Given the description of an element on the screen output the (x, y) to click on. 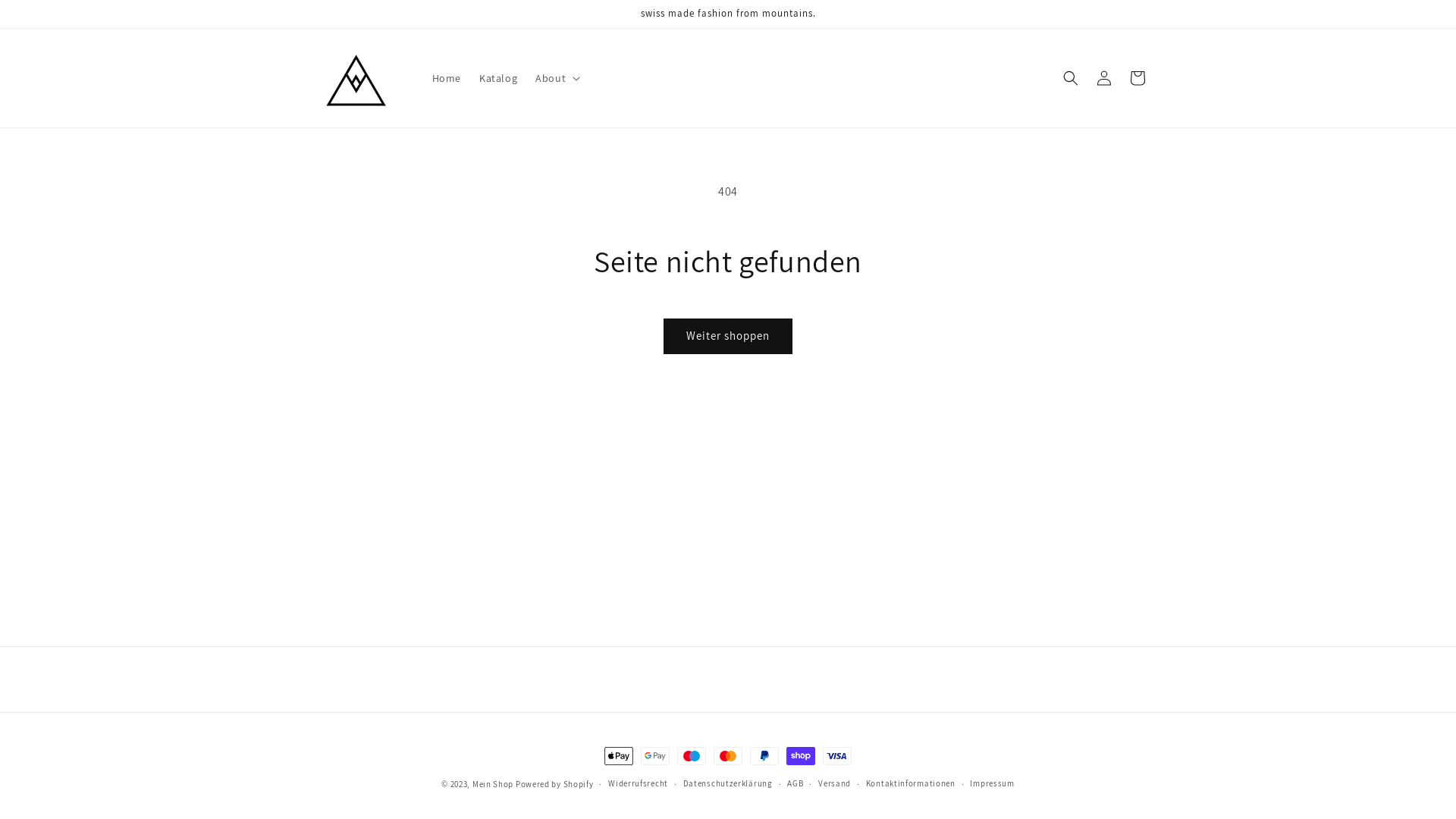
Katalog Element type: text (498, 78)
Einloggen Element type: text (1103, 77)
Versand Element type: text (834, 783)
Home Element type: text (446, 78)
Mein Shop Element type: text (492, 783)
Weiter shoppen Element type: text (727, 336)
AGB Element type: text (795, 783)
Widerrufsrecht Element type: text (638, 783)
Impressum Element type: text (991, 783)
Kontaktinformationen Element type: text (910, 783)
Warenkorb Element type: text (1137, 77)
